Given the description of an element on the screen output the (x, y) to click on. 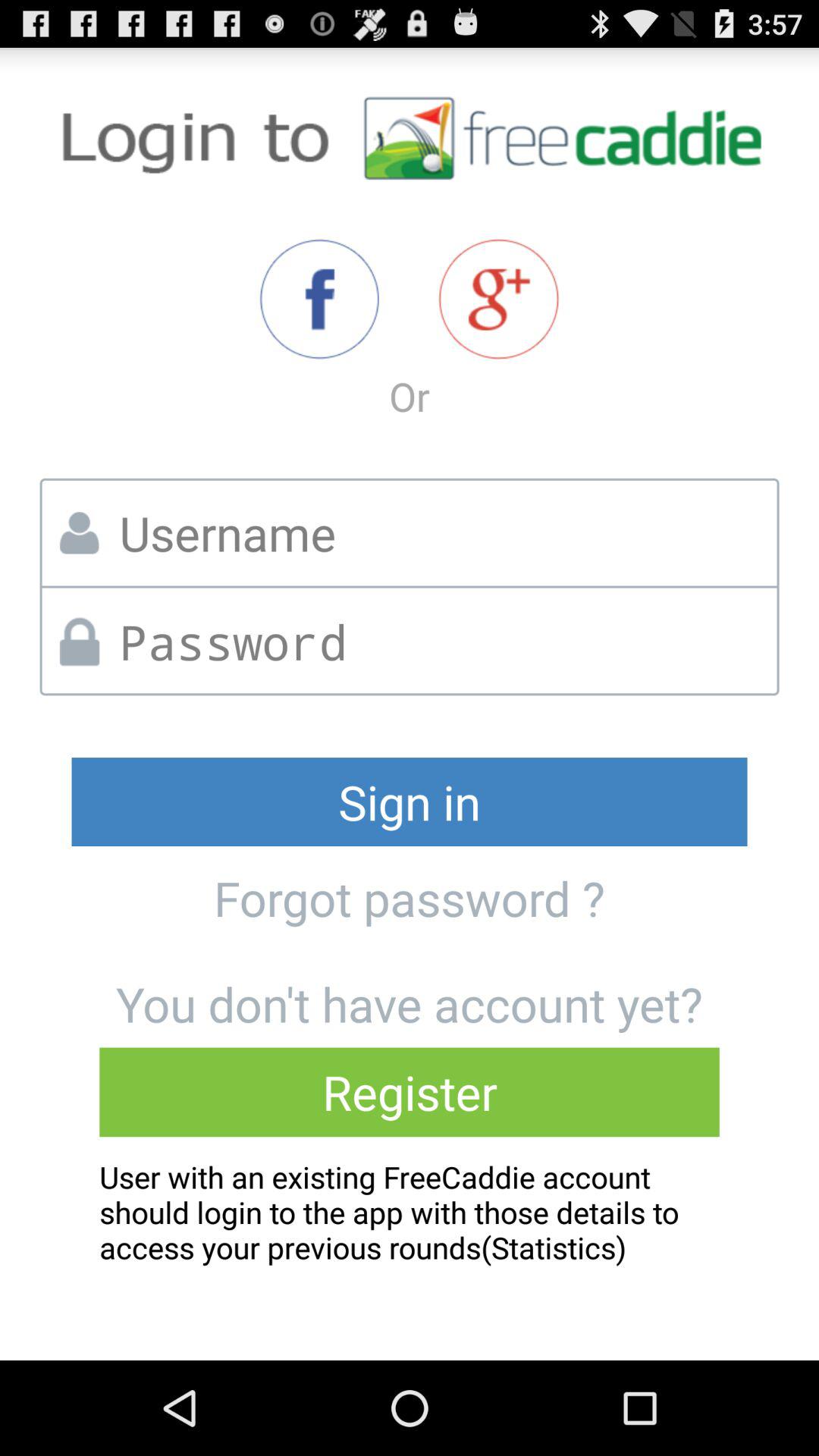
login using google+ (498, 298)
